Given the description of an element on the screen output the (x, y) to click on. 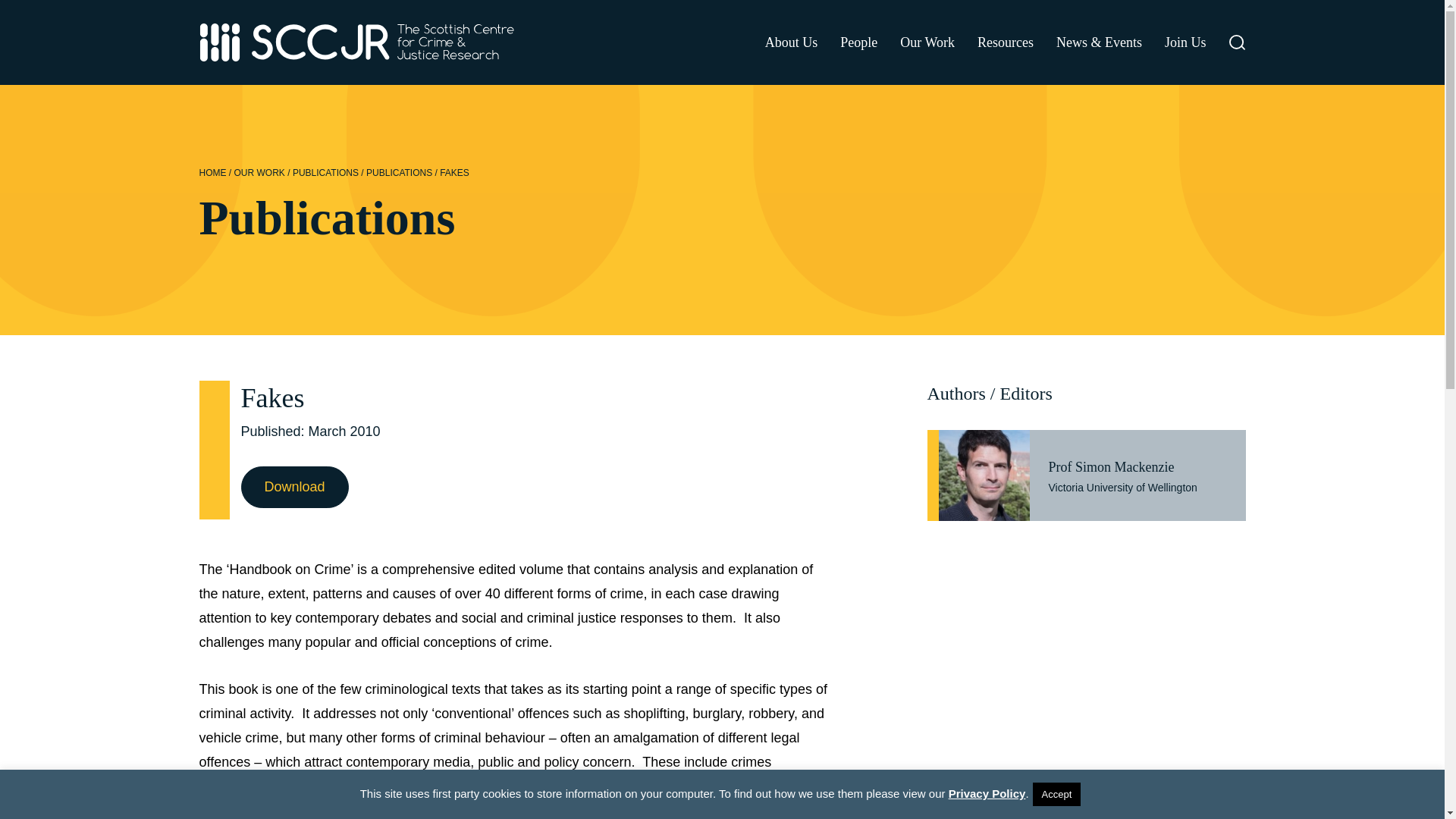
Go to Publications. (399, 172)
Our Work (927, 42)
Go to Publications. (325, 172)
Go to Our Work. (259, 172)
Join Us (1185, 42)
Go to SCCJR. (211, 172)
People (858, 42)
Resources (1004, 42)
About Us (791, 42)
